Given the description of an element on the screen output the (x, y) to click on. 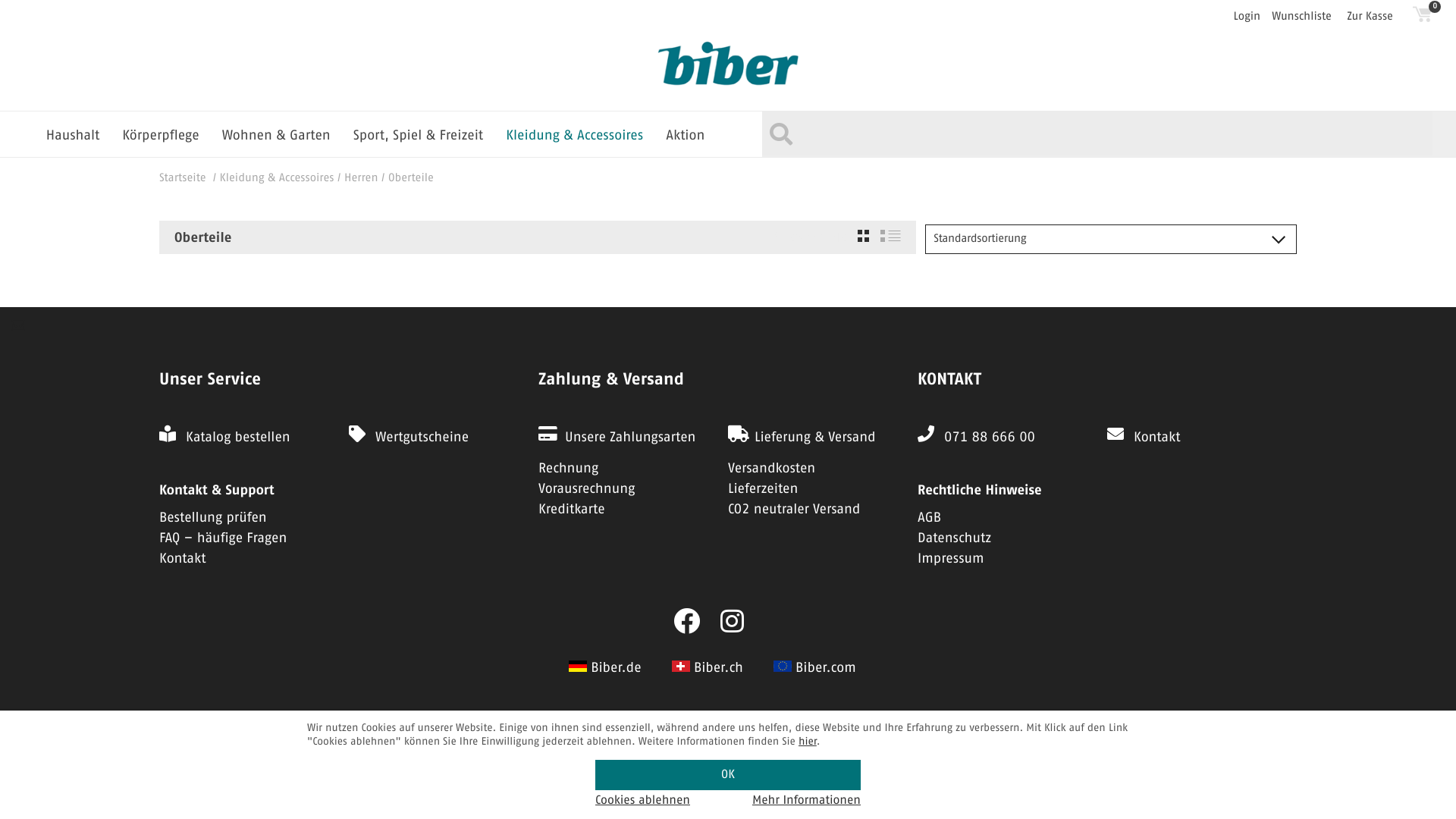
Datenschutz Element type: text (954, 538)
Herren Element type: text (361, 178)
Biber Verssand auf Instagram Element type: hover (731, 623)
0 Element type: text (1422, 13)
Wertgutscheine Element type: text (421, 437)
Kleidung & Accessoires Element type: text (276, 178)
list Element type: text (890, 235)
Lieferung & Versand Element type: text (814, 437)
Cookies ablehnen Element type: text (642, 800)
Login Element type: text (1249, 17)
Biber Umweltprodukte Versand Element type: hover (727, 65)
Startseite Element type: text (182, 178)
hier Element type: text (807, 740)
Biber.de Element type: text (615, 667)
Wohnen & Garten Element type: text (276, 135)
Katalog bestellen Element type: text (237, 437)
Unsere Zahlungsarten Element type: text (630, 437)
Wunschliste Element type: text (1307, 17)
Biber Umweltprodukte Versand Element type: hover (727, 68)
Biber.ch Element type: text (718, 667)
Zur Kasse Element type: text (1375, 17)
Biber.com Element type: text (825, 667)
Mehr Informationen Element type: text (806, 800)
Kontakt Element type: text (182, 558)
AGB Element type: text (929, 517)
CO2 neutraler Versand Element type: text (793, 509)
Biber Versand auf Facebook Element type: hover (686, 623)
Sport, Spiel & Freizeit Element type: text (418, 135)
Kontakt Element type: text (1156, 437)
OK Element type: text (727, 774)
Aktion Element type: text (684, 135)
Haushalt Element type: text (73, 135)
Impressum Element type: text (950, 558)
Lieferzeiten Element type: text (762, 488)
grid Element type: text (863, 235)
Kleidung & Accessoires Element type: text (574, 135)
Versandkosten Element type: text (771, 468)
